Given the description of an element on the screen output the (x, y) to click on. 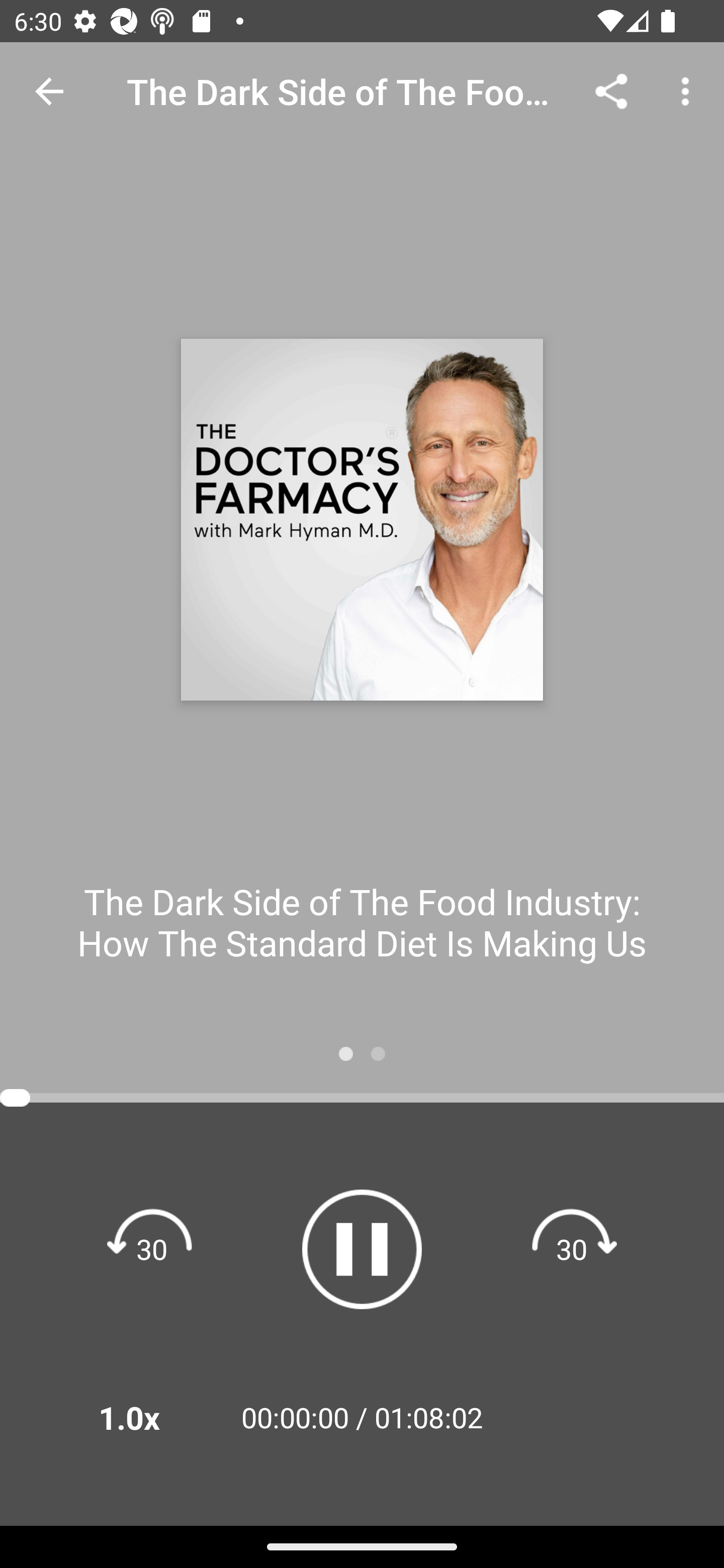
Navigate up (49, 91)
Share... (611, 90)
More options (688, 90)
Pause (361, 1249)
Rewind (151, 1248)
Fast forward (571, 1248)
1.0x Playback Speeds (154, 1417)
01:08:02 (428, 1417)
